Given the description of an element on the screen output the (x, y) to click on. 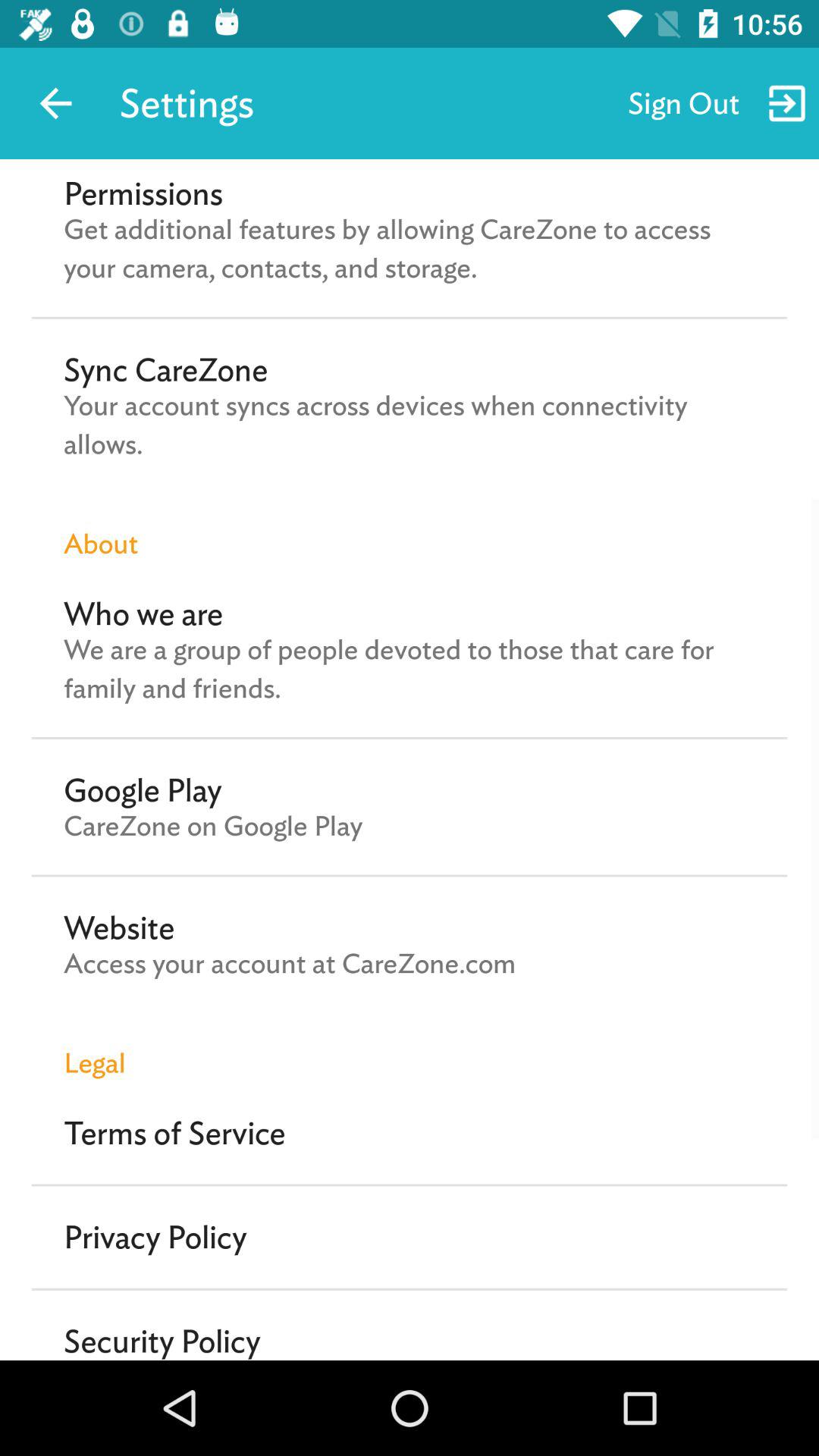
open the privacy policy item (154, 1237)
